Given the description of an element on the screen output the (x, y) to click on. 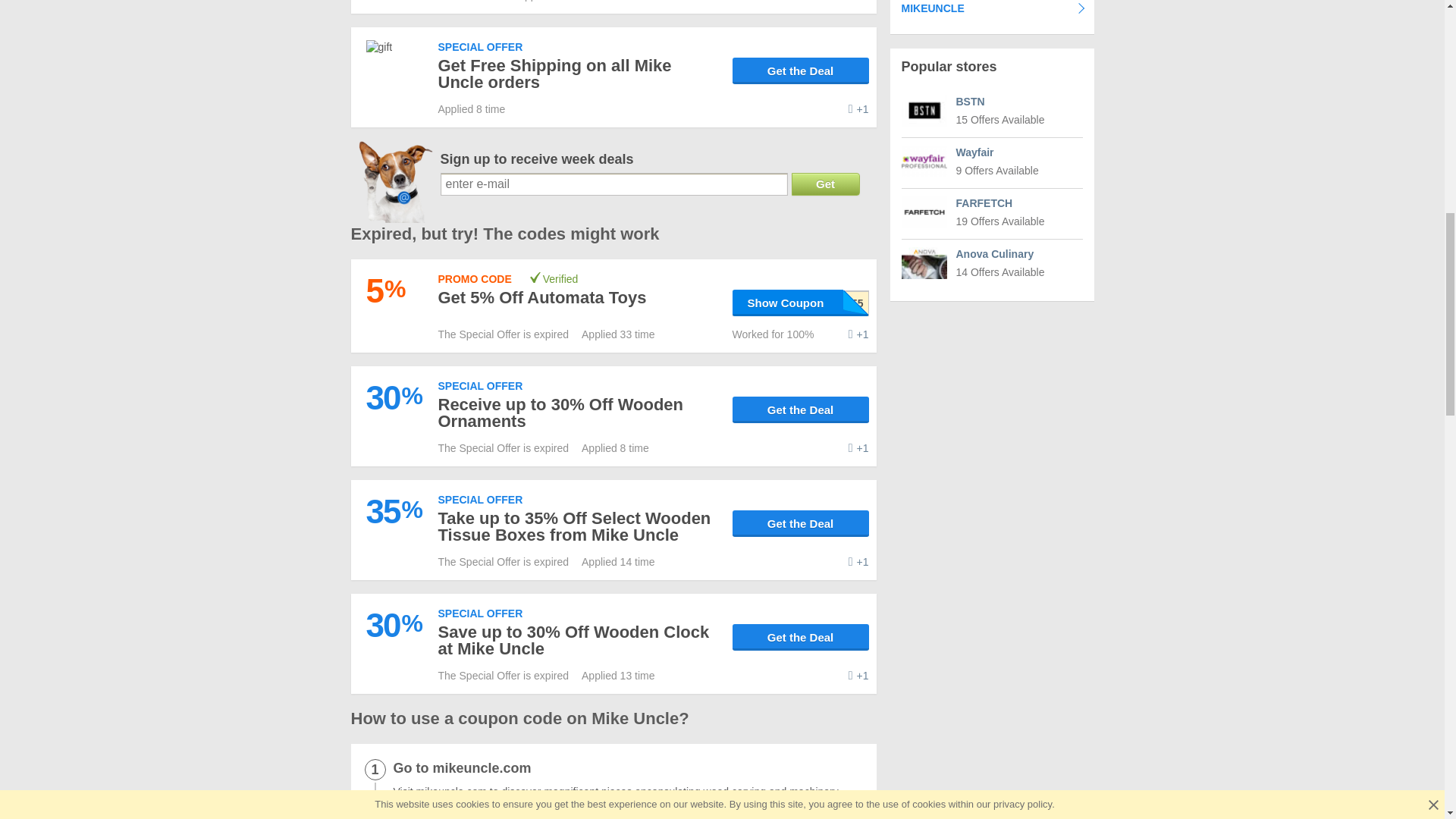
Get the Deal (800, 523)
Leave your comment  (858, 561)
Leave your comment  (858, 1)
Get the Deal (800, 70)
Leave your comment  (858, 448)
Leave your comment  (858, 334)
Leave your comment  (858, 109)
Show Coupon (800, 302)
Get the Deal (800, 409)
